Given the description of an element on the screen output the (x, y) to click on. 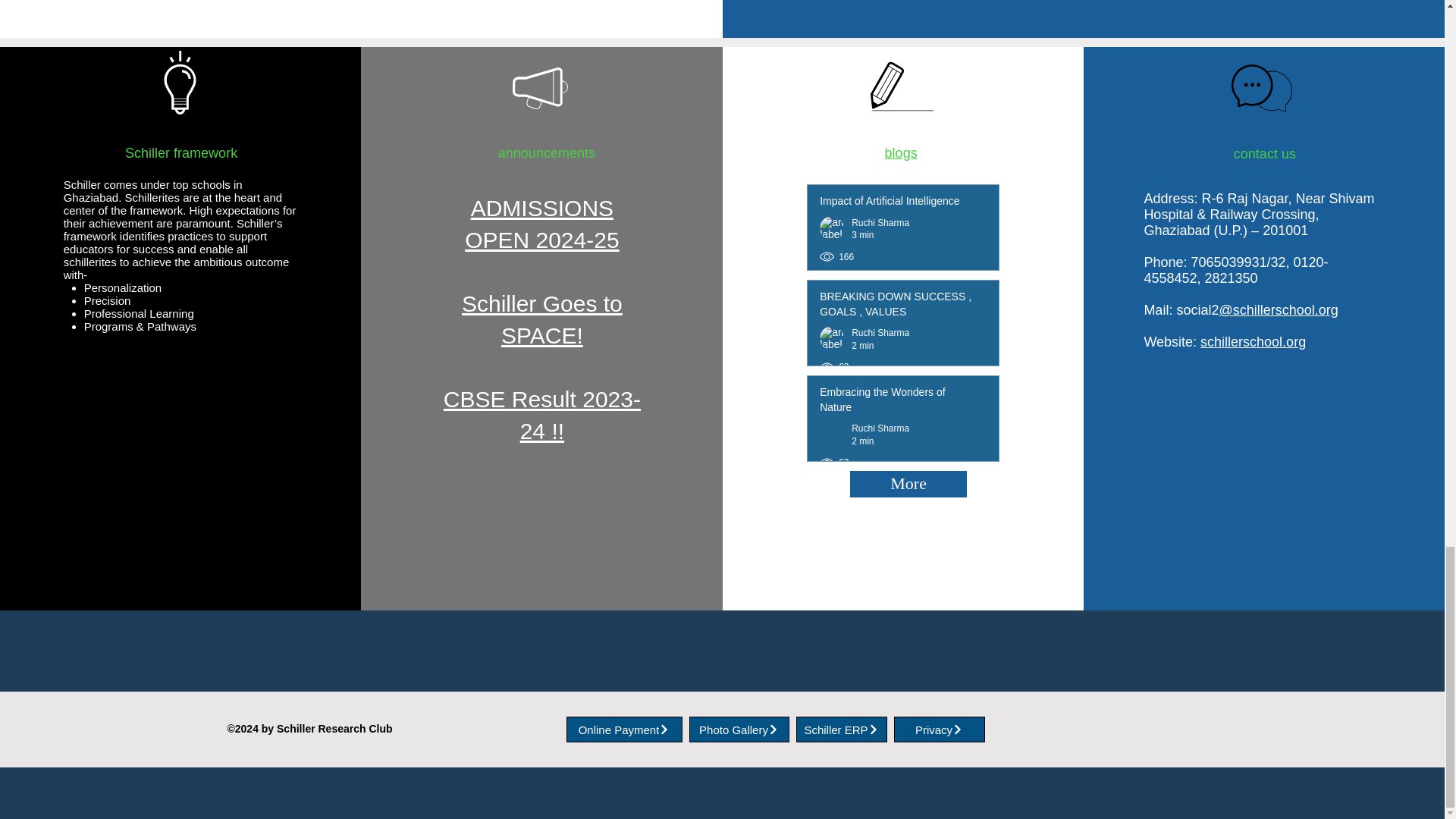
2 min (862, 440)
Ruchi Sharma  (879, 428)
Ruchi Sharma  (879, 222)
Ruchi Sharma  (879, 332)
3 min (862, 235)
2 min (862, 345)
